Given the description of an element on the screen output the (x, y) to click on. 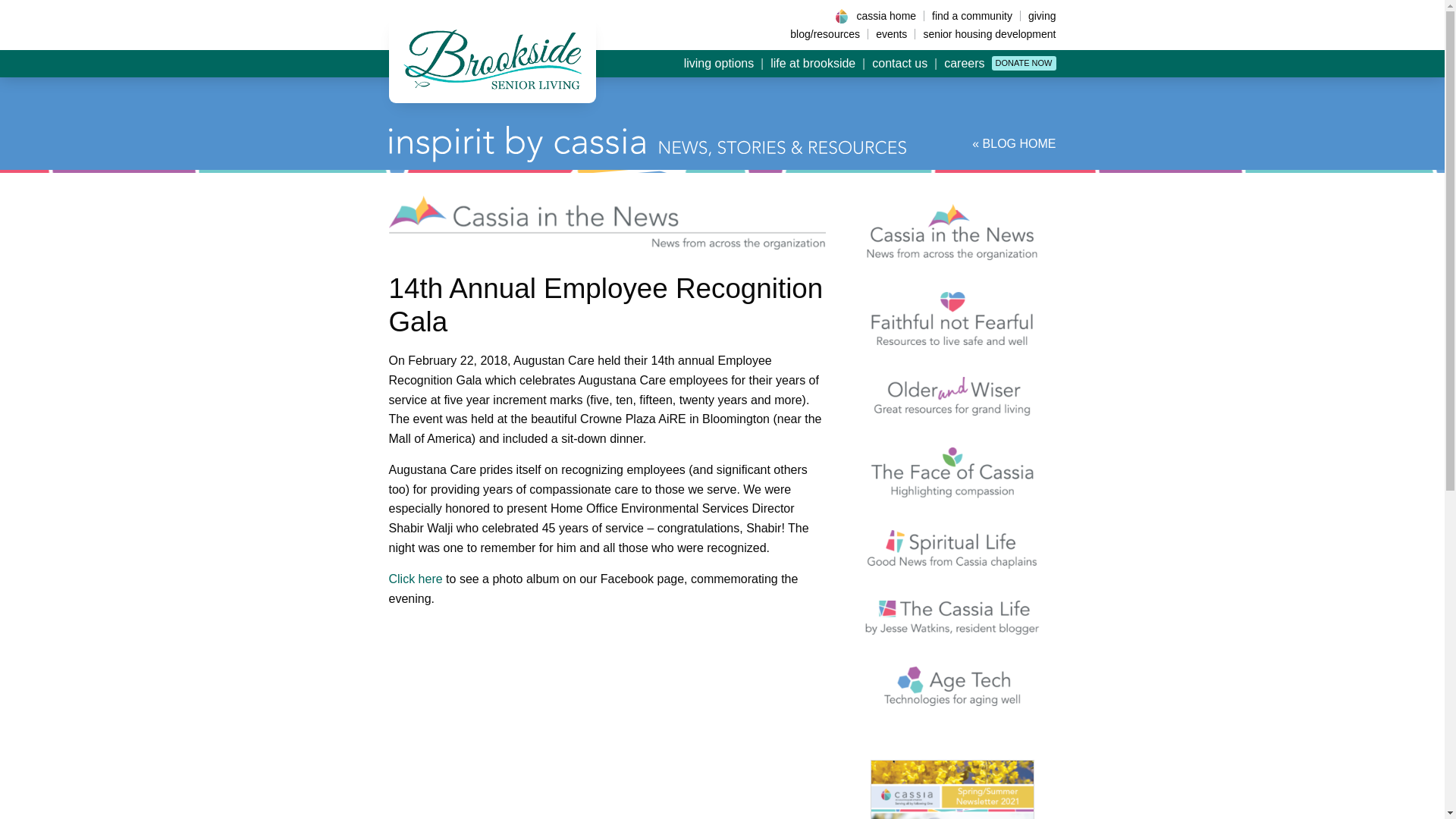
cassia home (885, 15)
find a community (971, 15)
giving (1038, 15)
Click here (415, 578)
events (890, 33)
living options (718, 63)
Cassia in the News (951, 231)
contact us (899, 63)
senior housing development (984, 33)
careers (964, 63)
DONATE NOW (1024, 63)
life at brookside (812, 63)
